Given the description of an element on the screen output the (x, y) to click on. 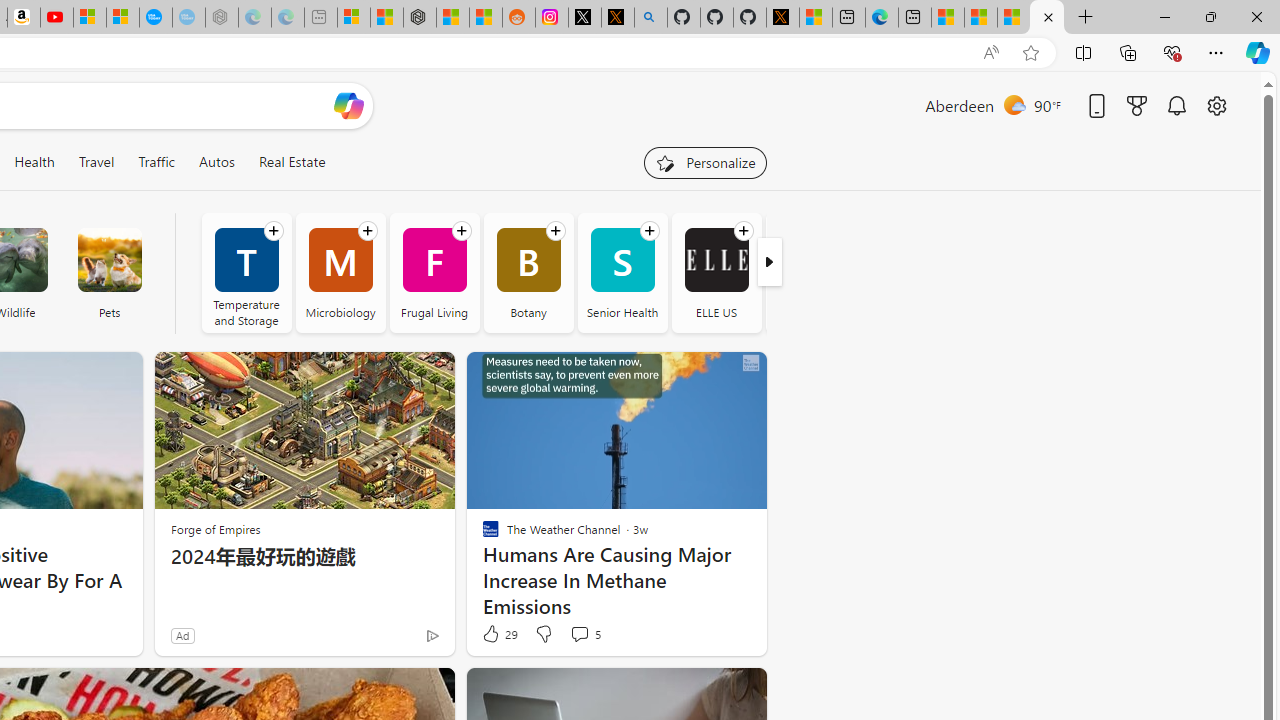
Travel (96, 162)
Opinion: Op-Ed and Commentary - USA TODAY (155, 17)
Notifications (1176, 105)
Nordace - Nordace has arrived Hong Kong - Sleeping (222, 17)
Open settings (1216, 105)
SB Nation (810, 272)
Autos (216, 162)
Ad (182, 635)
X Privacy Policy (782, 17)
Real Estate (291, 162)
Traffic (156, 162)
